Given the description of an element on the screen output the (x, y) to click on. 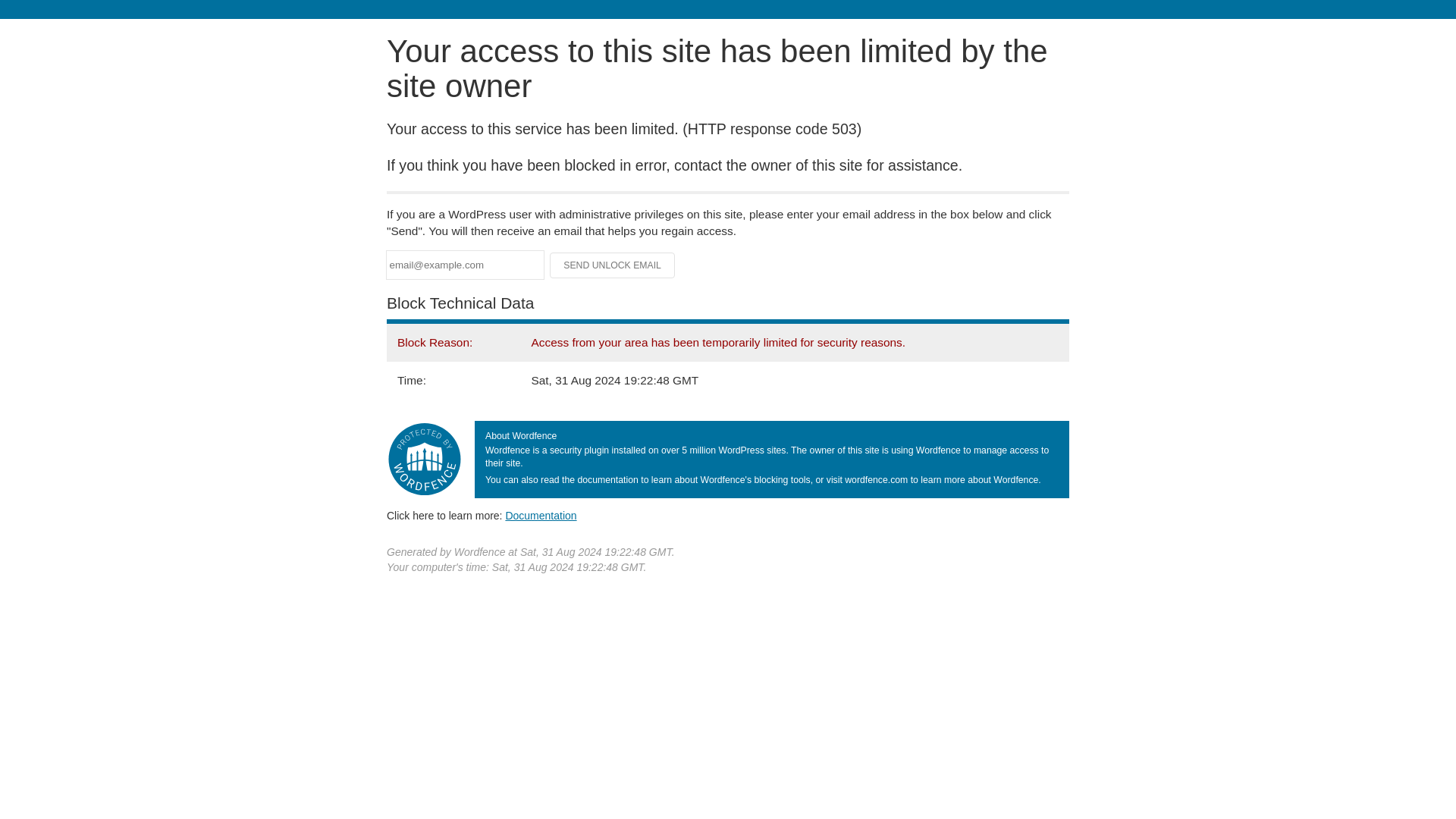
Documentation (540, 515)
Send Unlock Email (612, 265)
Send Unlock Email (612, 265)
